Given the description of an element on the screen output the (x, y) to click on. 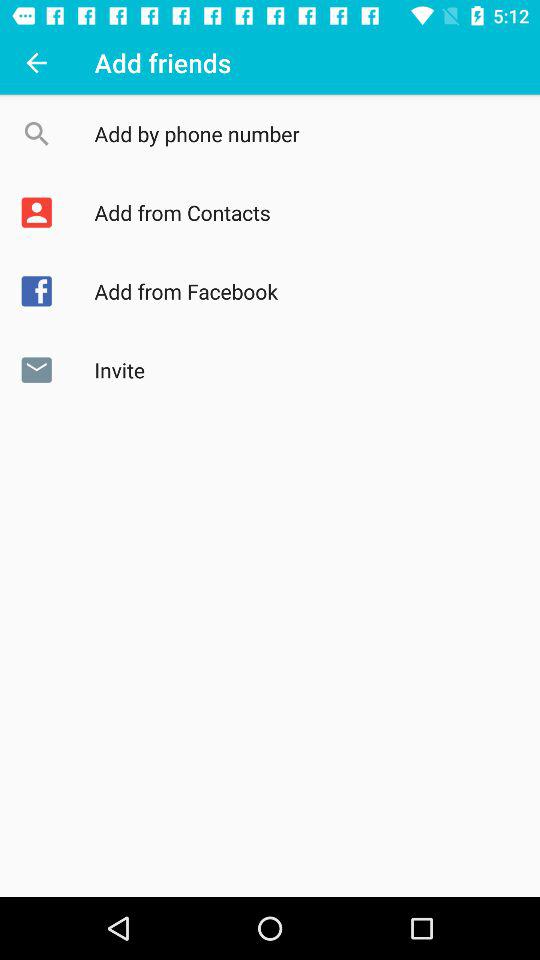
press icon next to the add friends (36, 62)
